Given the description of an element on the screen output the (x, y) to click on. 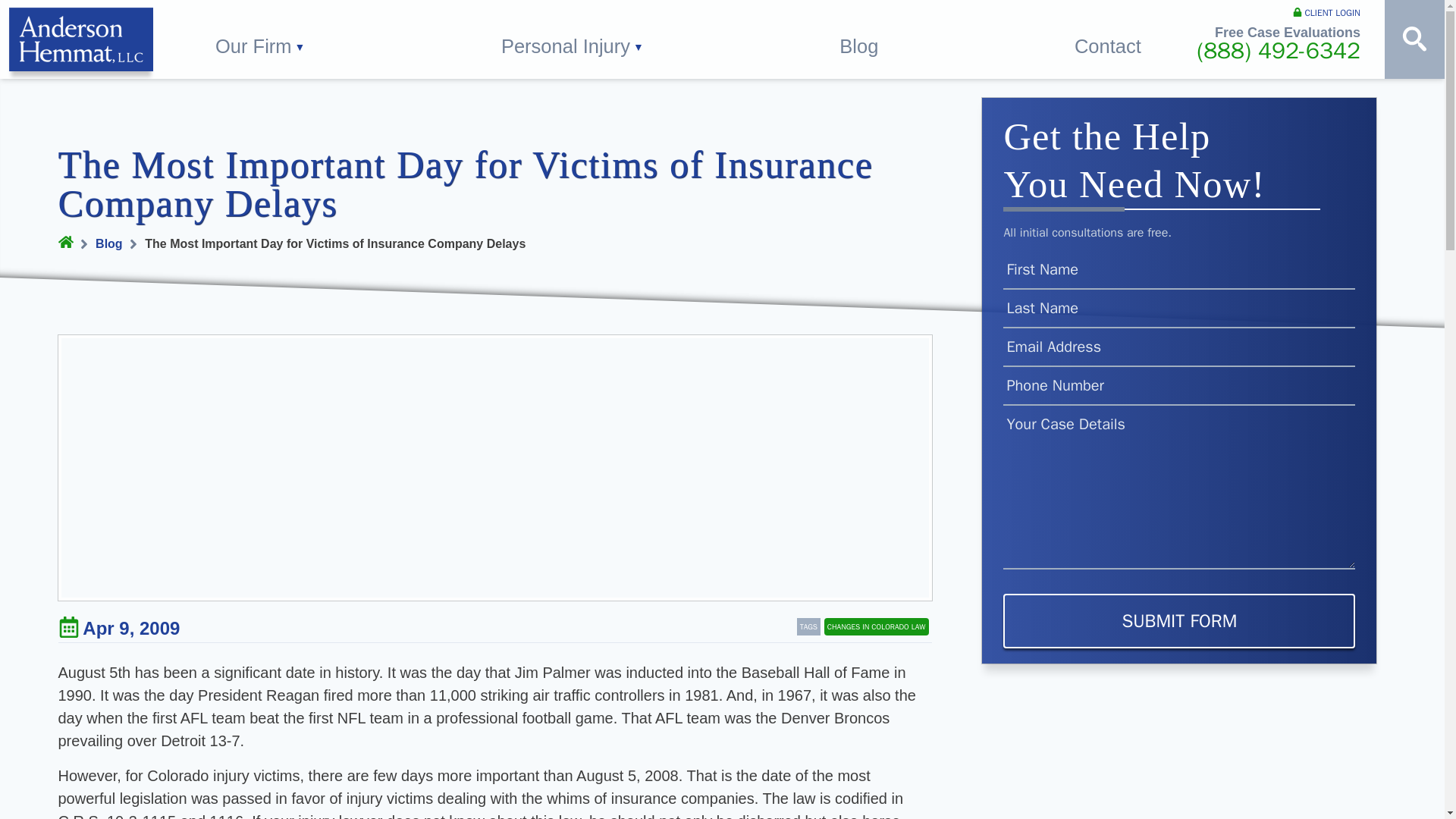
Our Firm (260, 38)
SUBMIT FORM (1179, 620)
Anderson Hemmat, LLC Logo (80, 39)
Personal Injury (572, 38)
